Given the description of an element on the screen output the (x, y) to click on. 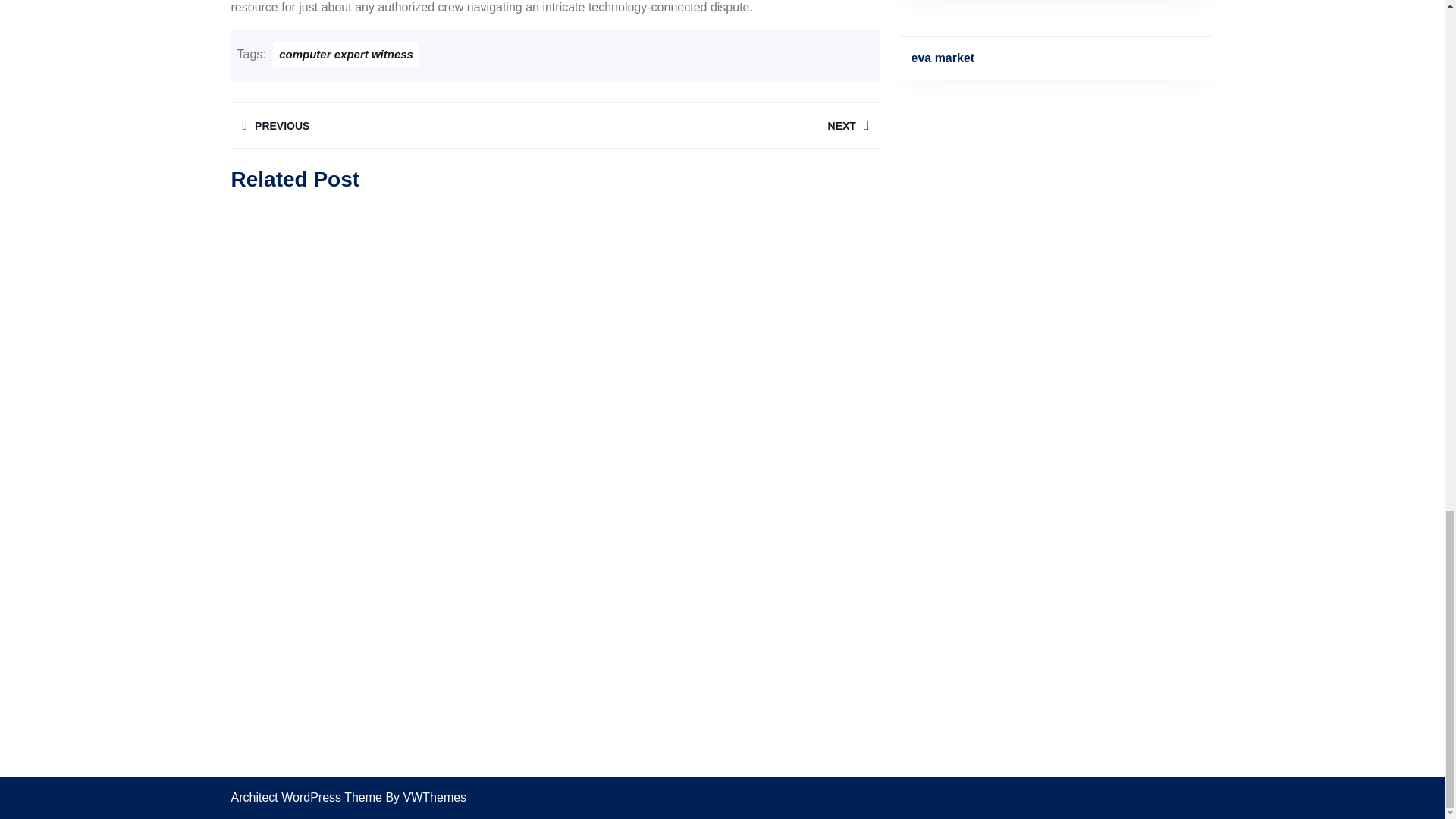
computer expert witness (346, 53)
